Given the description of an element on the screen output the (x, y) to click on. 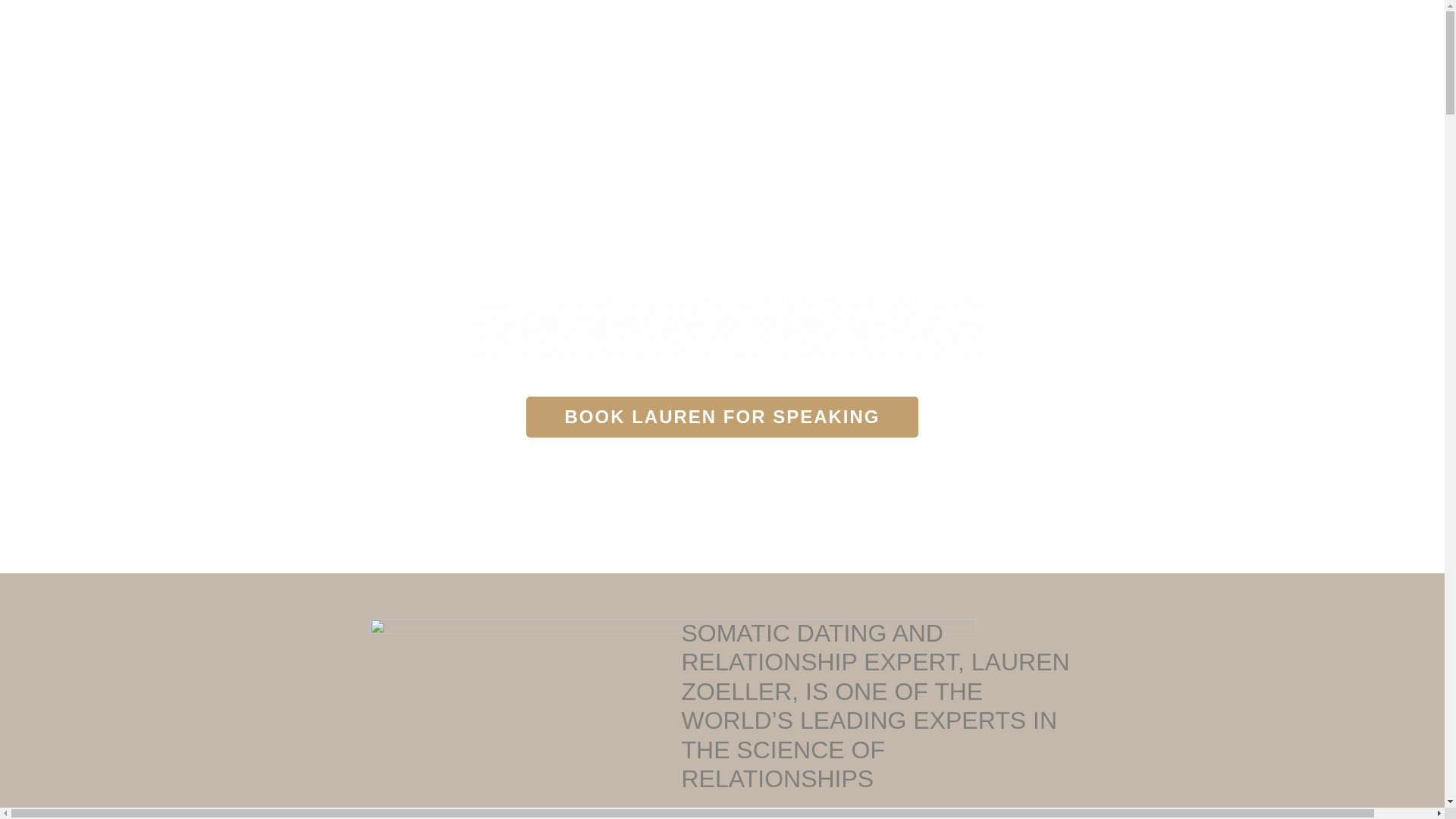
BOOK LAUREN FOR SPEAKING (721, 417)
